Given the description of an element on the screen output the (x, y) to click on. 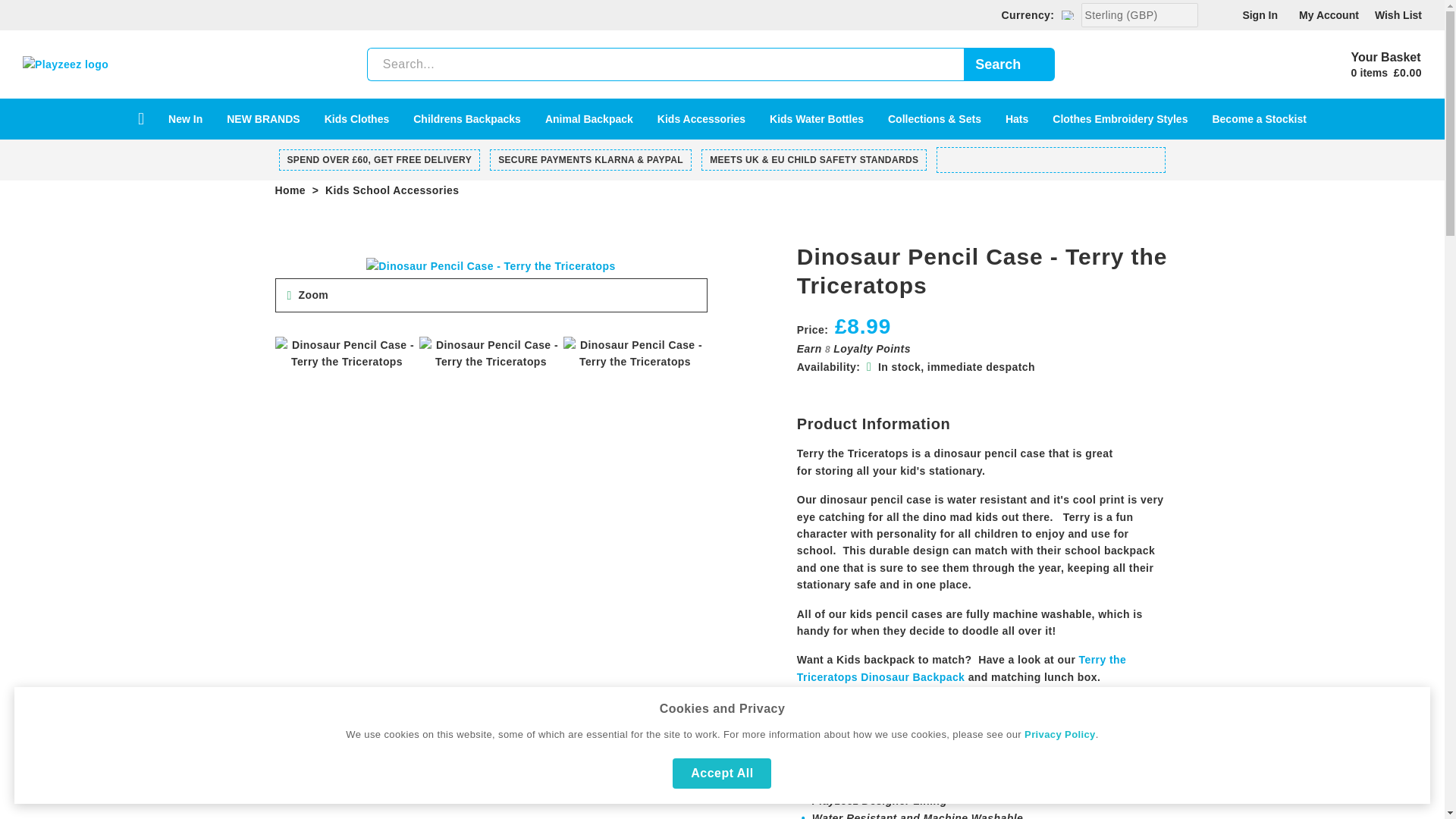
Zoom (490, 265)
Zoom (313, 295)
Terry the Triceratops Dinosaur Backpack (960, 667)
Dinosaur Pencil Case - Terry the Triceratops (313, 295)
Dinosaur Pencil Case - Terry the Triceratops (490, 265)
